Given the description of an element on the screen output the (x, y) to click on. 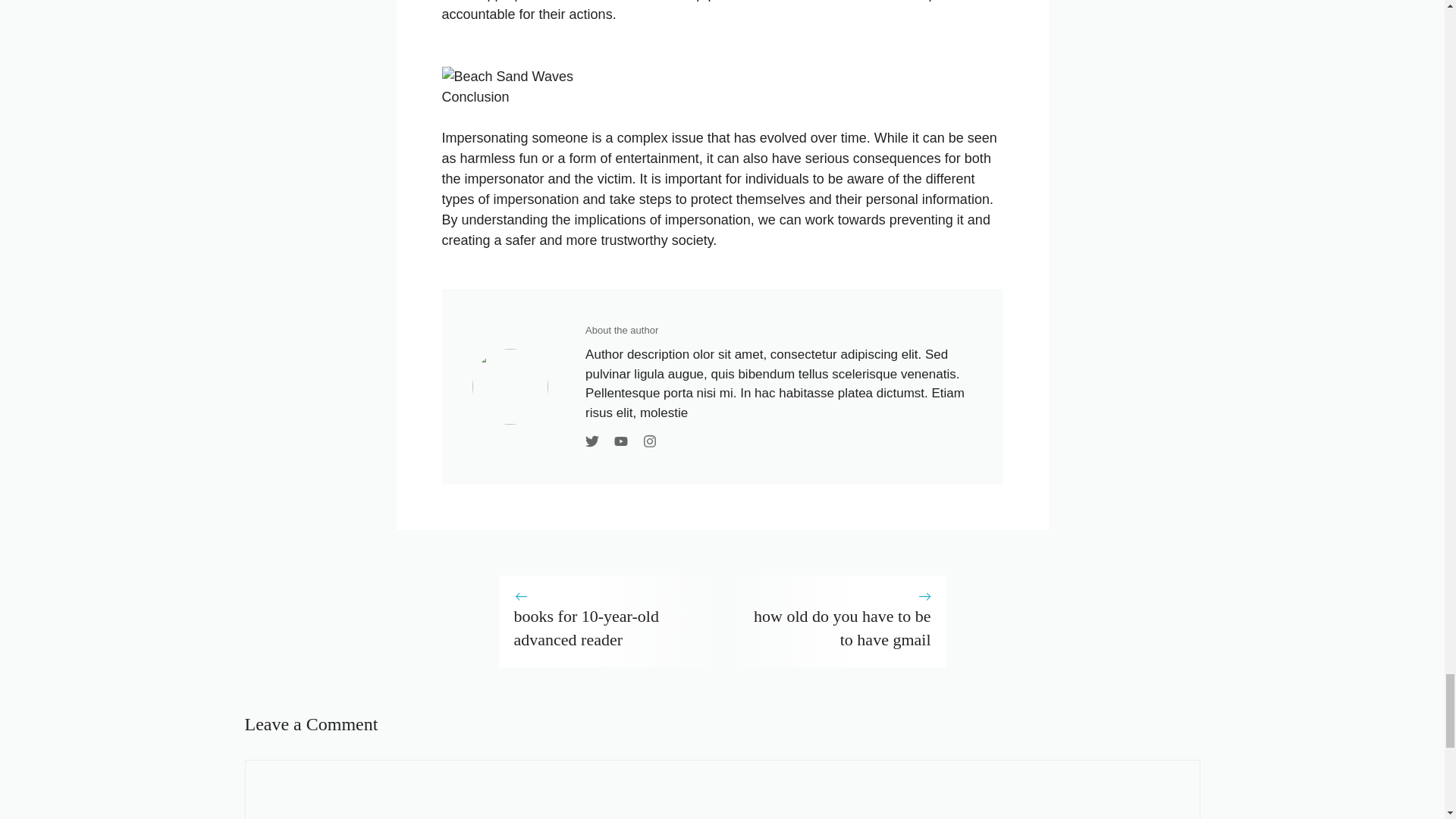
testimonials-2 (509, 386)
Beach Sand Waves (506, 76)
books for 10-year-old advanced reader (586, 627)
how old do you have to be to have gmail (842, 627)
